Given the description of an element on the screen output the (x, y) to click on. 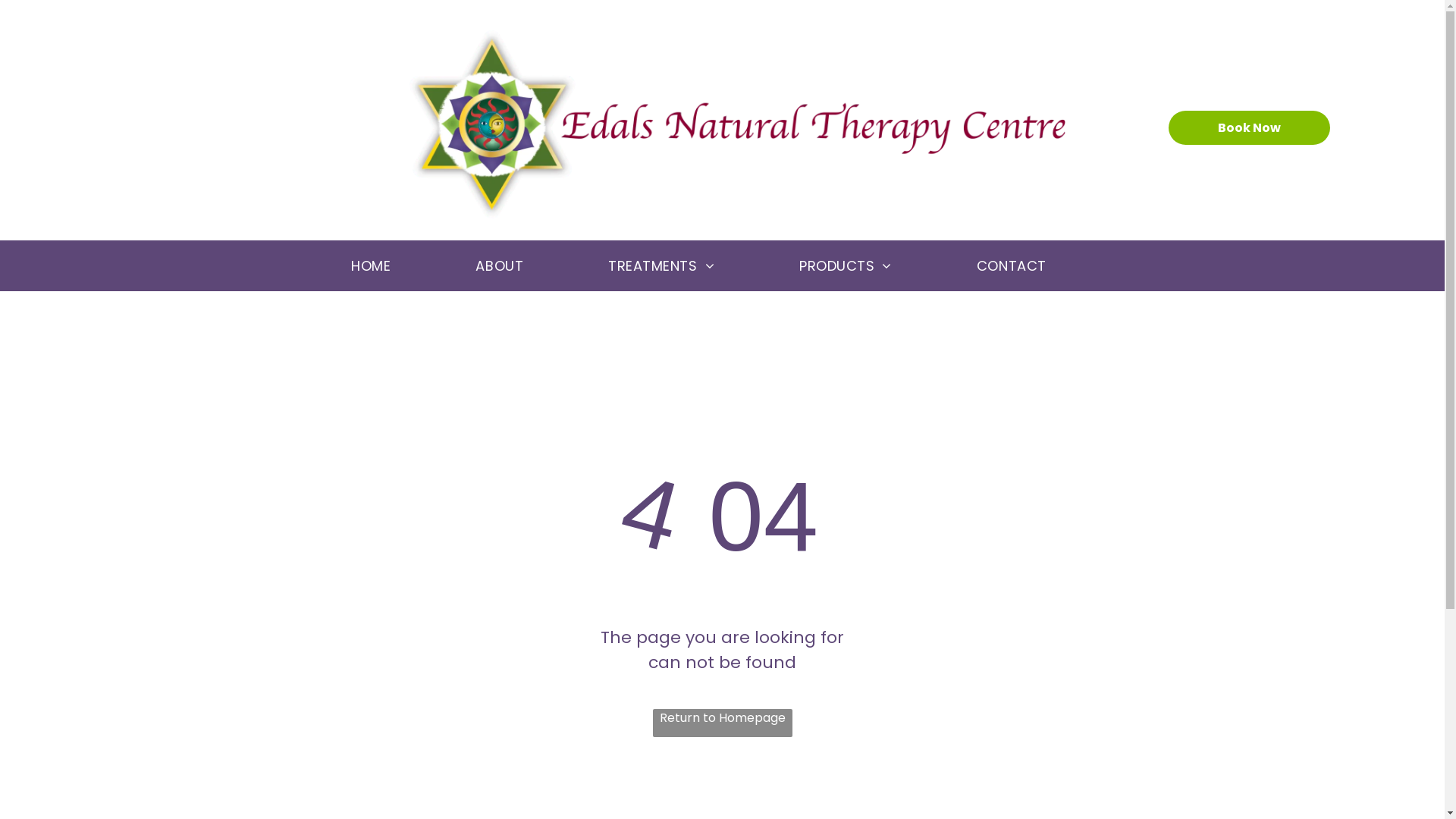
PRODUCTS Element type: text (868, 265)
Return to Homepage Element type: text (721, 723)
CONTACT Element type: text (1034, 265)
ABOUT Element type: text (522, 265)
TREATMENTS Element type: text (684, 265)
Book Now Element type: text (1249, 127)
HOME Element type: text (394, 265)
